Given the description of an element on the screen output the (x, y) to click on. 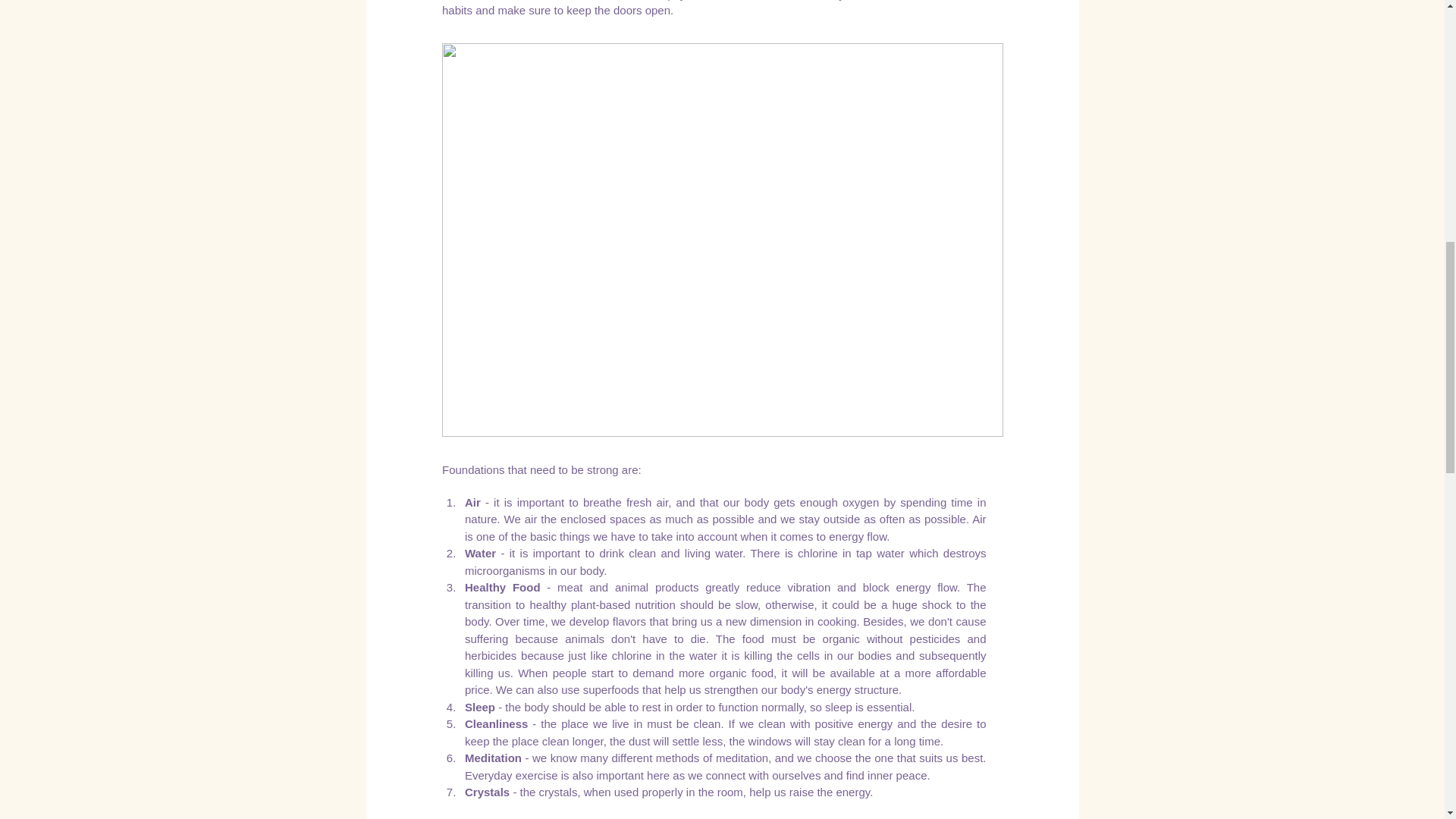
Healthy Food  (505, 586)
Meditation (492, 757)
Sleep (479, 707)
Crystals  (488, 791)
Air (472, 502)
Water (479, 553)
